Given the description of an element on the screen output the (x, y) to click on. 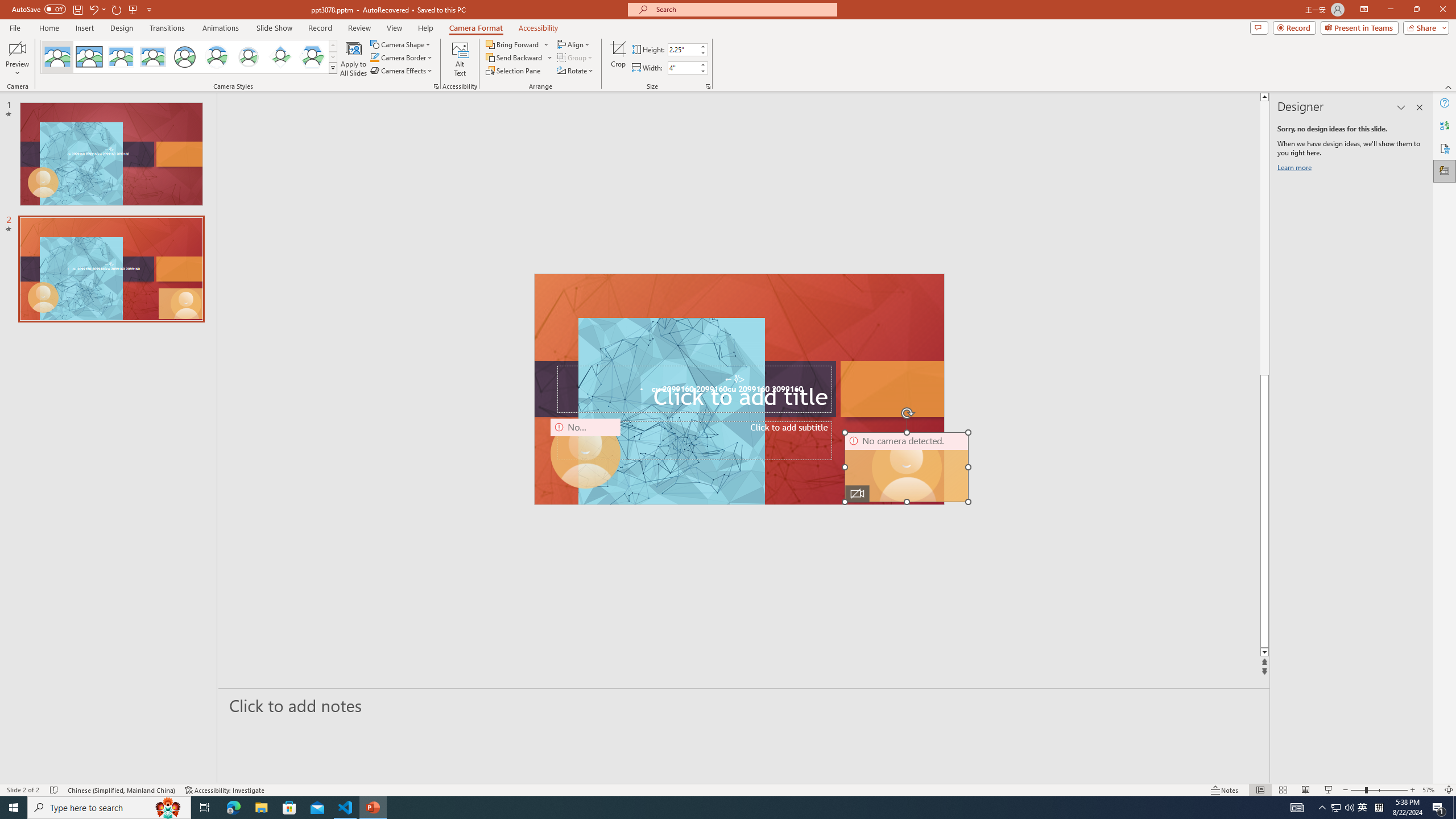
Zoom 57% (1430, 790)
Bring Forward (513, 44)
AutomationID: CameoStylesGallery (189, 56)
Rotate (575, 69)
More (702, 64)
Camera Border Green, Accent 1 (374, 56)
Group (575, 56)
